Given the description of an element on the screen output the (x, y) to click on. 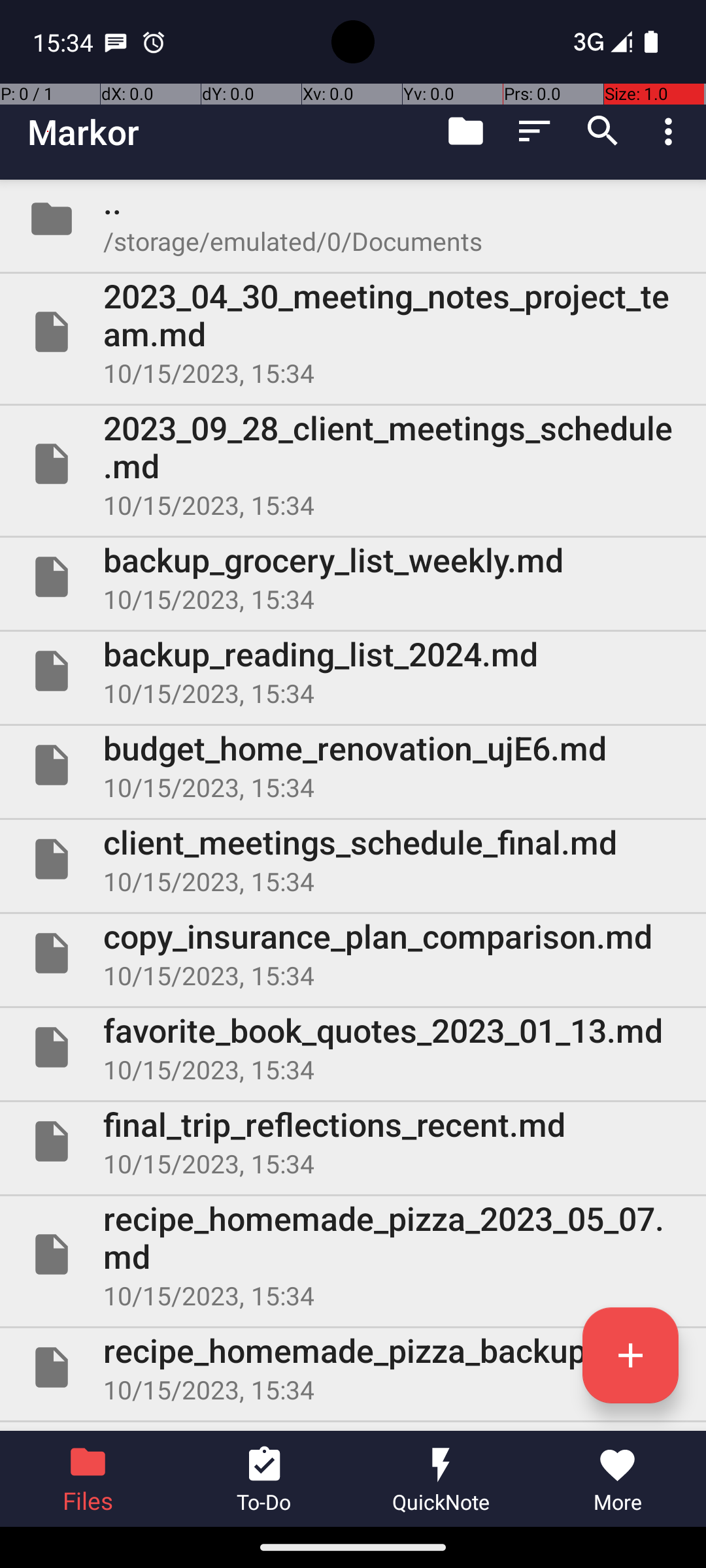
File 2023_04_30_meeting_notes_project_team.md  Element type: android.widget.LinearLayout (353, 331)
File 2023_09_28_client_meetings_schedule.md  Element type: android.widget.LinearLayout (353, 463)
File backup_grocery_list_weekly.md  Element type: android.widget.LinearLayout (353, 576)
File backup_reading_list_2024.md  Element type: android.widget.LinearLayout (353, 670)
File budget_home_renovation_ujE6.md  Element type: android.widget.LinearLayout (353, 764)
File client_meetings_schedule_final.md  Element type: android.widget.LinearLayout (353, 858)
File copy_insurance_plan_comparison.md  Element type: android.widget.LinearLayout (353, 953)
File favorite_book_quotes_2023_01_13.md  Element type: android.widget.LinearLayout (353, 1047)
File final_trip_reflections_recent.md  Element type: android.widget.LinearLayout (353, 1141)
File recipe_homemade_pizza_2023_05_07.md  Element type: android.widget.LinearLayout (353, 1254)
File recipe_homemade_pizza_backup.md  Element type: android.widget.LinearLayout (353, 1367)
File t3l8_favorite_book_quotes.md  Element type: android.widget.LinearLayout (353, 1426)
